Given the description of an element on the screen output the (x, y) to click on. 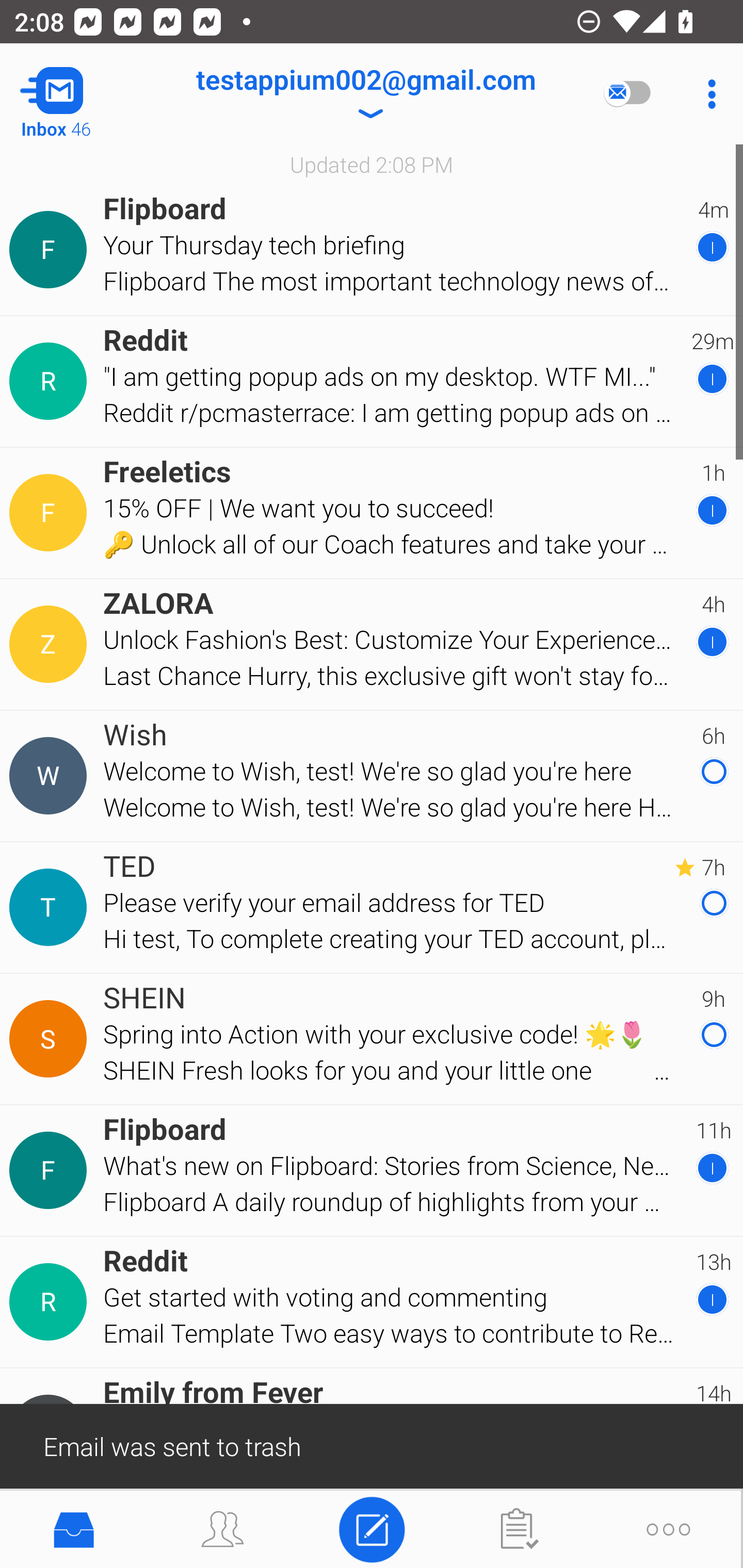
Navigate up (81, 93)
testappium002@gmail.com (365, 93)
More Options (706, 93)
Updated 2:08 PM (371, 164)
Contact Details (50, 250)
Contact Details (50, 381)
Contact Details (50, 513)
Contact Details (50, 644)
Contact Details (50, 776)
Contact Details (50, 907)
Contact Details (50, 1038)
Contact Details (50, 1170)
Contact Details (50, 1302)
Email was sent to trash (371, 1445)
Compose (371, 1528)
